Given the description of an element on the screen output the (x, y) to click on. 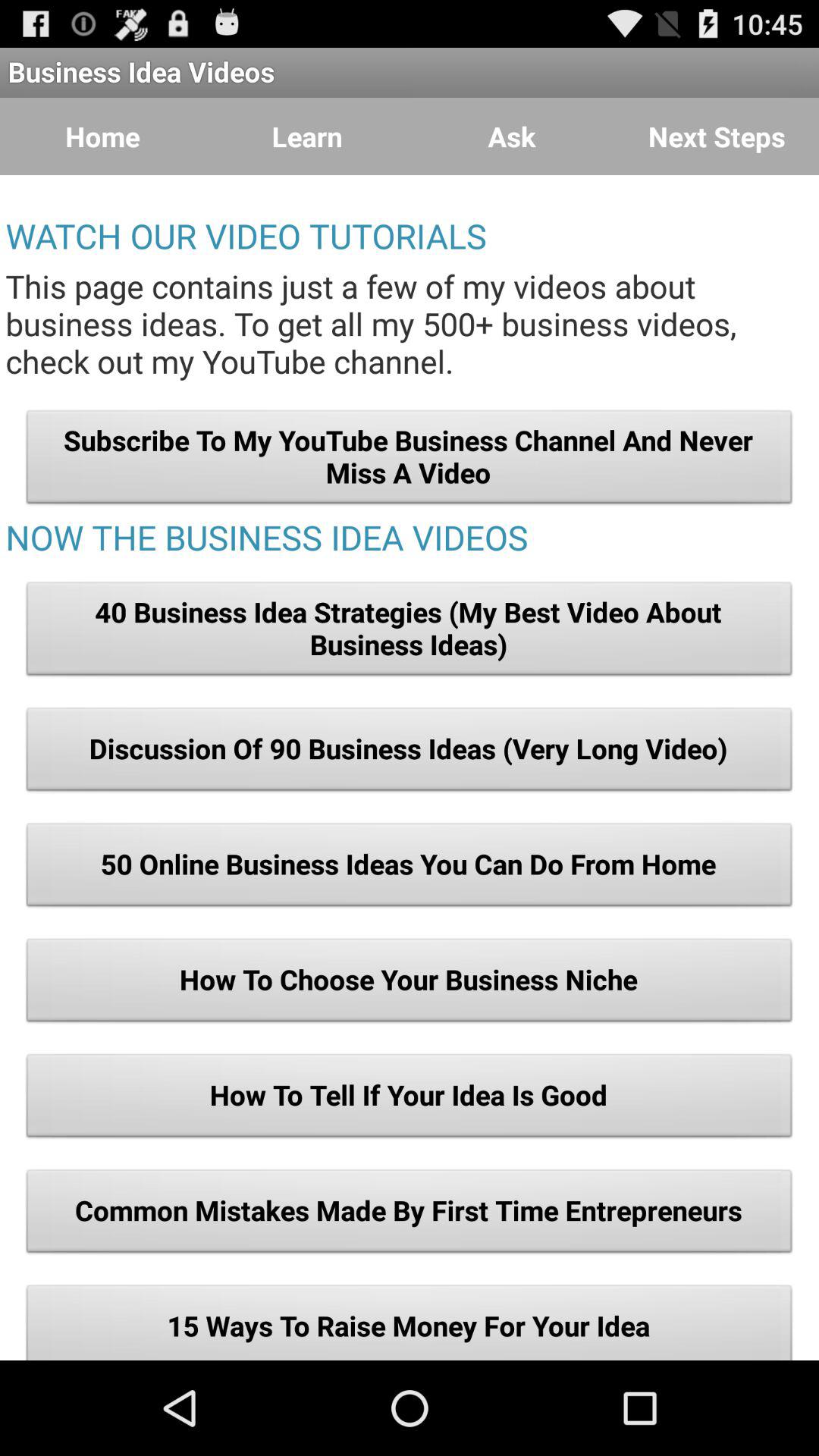
select app below the business idea videos app (716, 136)
